Given the description of an element on the screen output the (x, y) to click on. 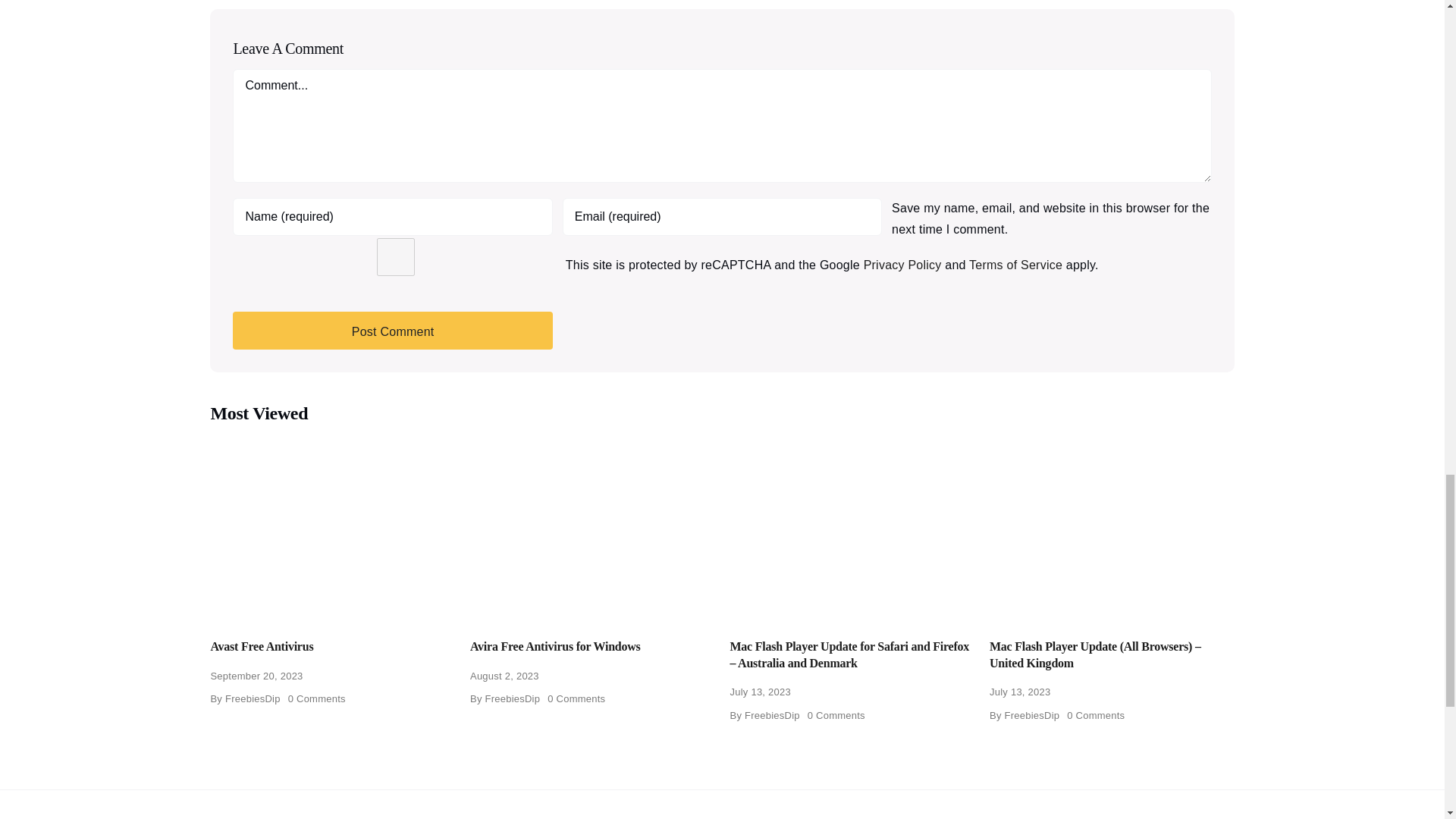
Avast Free Antivirus (331, 527)
Mac Flash Player Update for Australia and Denmark (851, 527)
Post Comment (391, 330)
avira-antivirus (592, 527)
Posts by FreebiesDip (253, 698)
Posts by FreebiesDip (771, 715)
yes (394, 257)
Posts by FreebiesDip (512, 698)
